Given the description of an element on the screen output the (x, y) to click on. 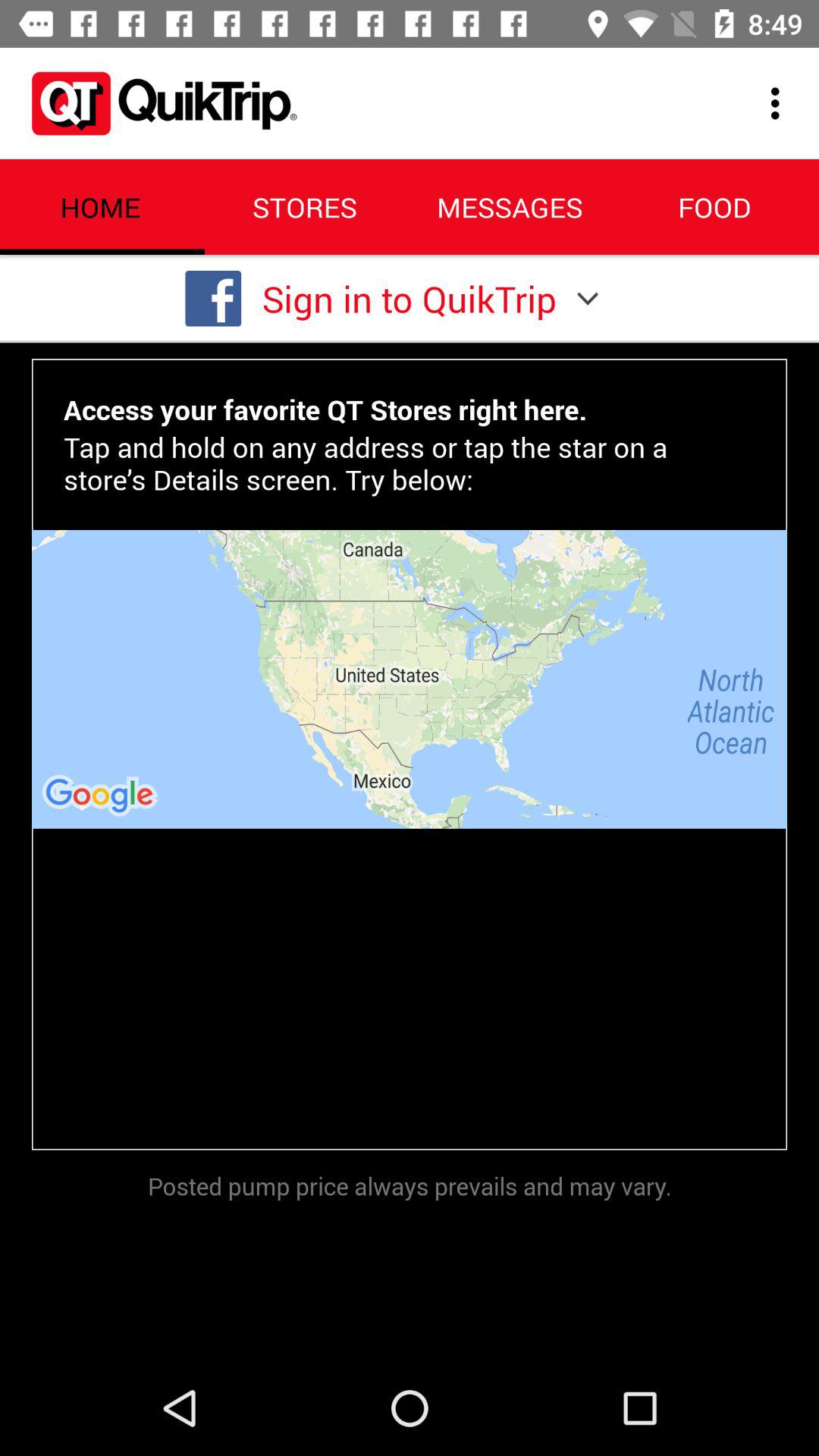
open the icon to the right of the messages (779, 103)
